Given the description of an element on the screen output the (x, y) to click on. 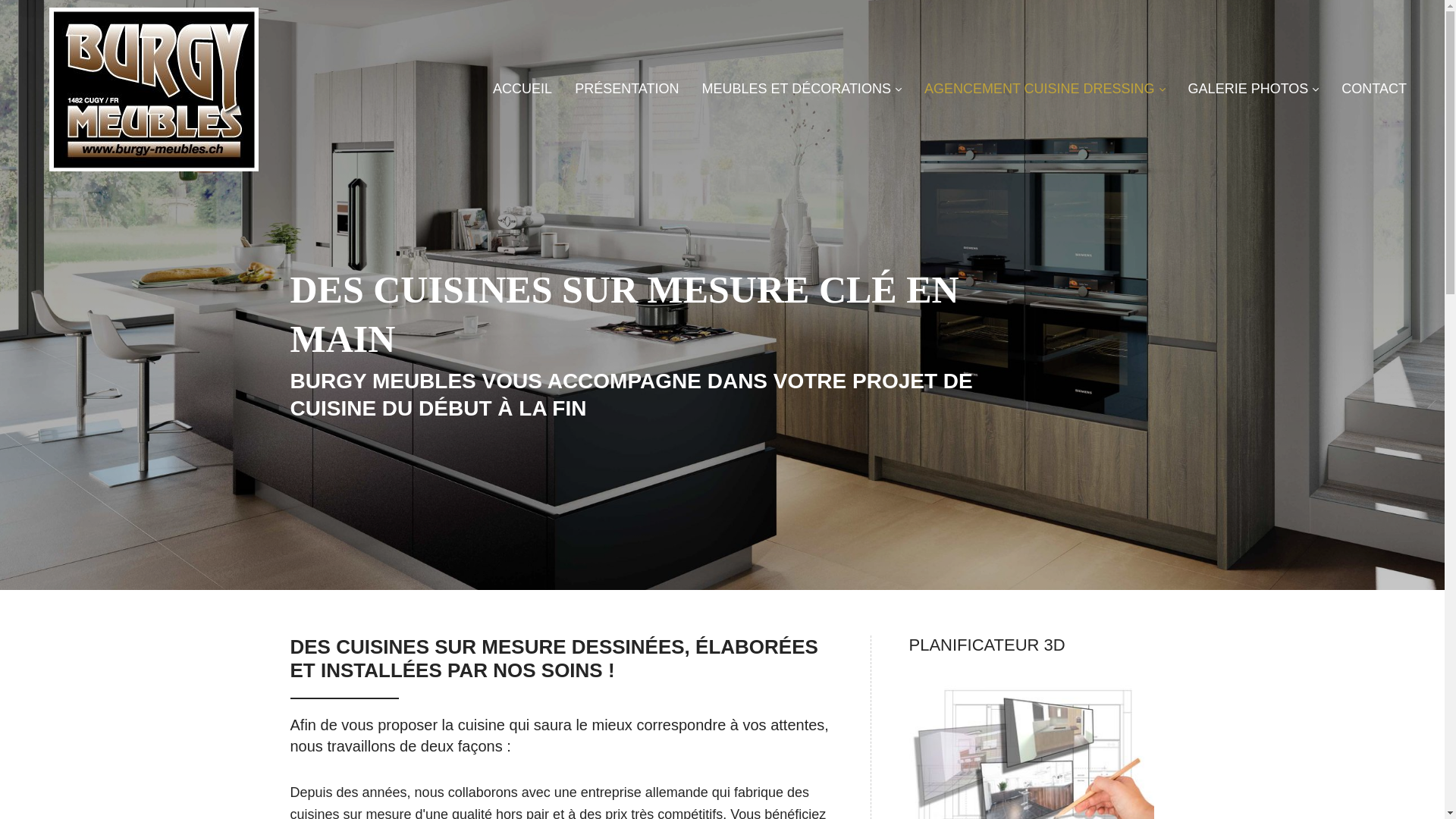
ACCUEIL Element type: text (522, 89)
AGENCEMENT CUISINE DRESSING Element type: text (1044, 89)
CONTACT Element type: text (1373, 89)
GALERIE PHOTOS Element type: text (1253, 89)
